Given the description of an element on the screen output the (x, y) to click on. 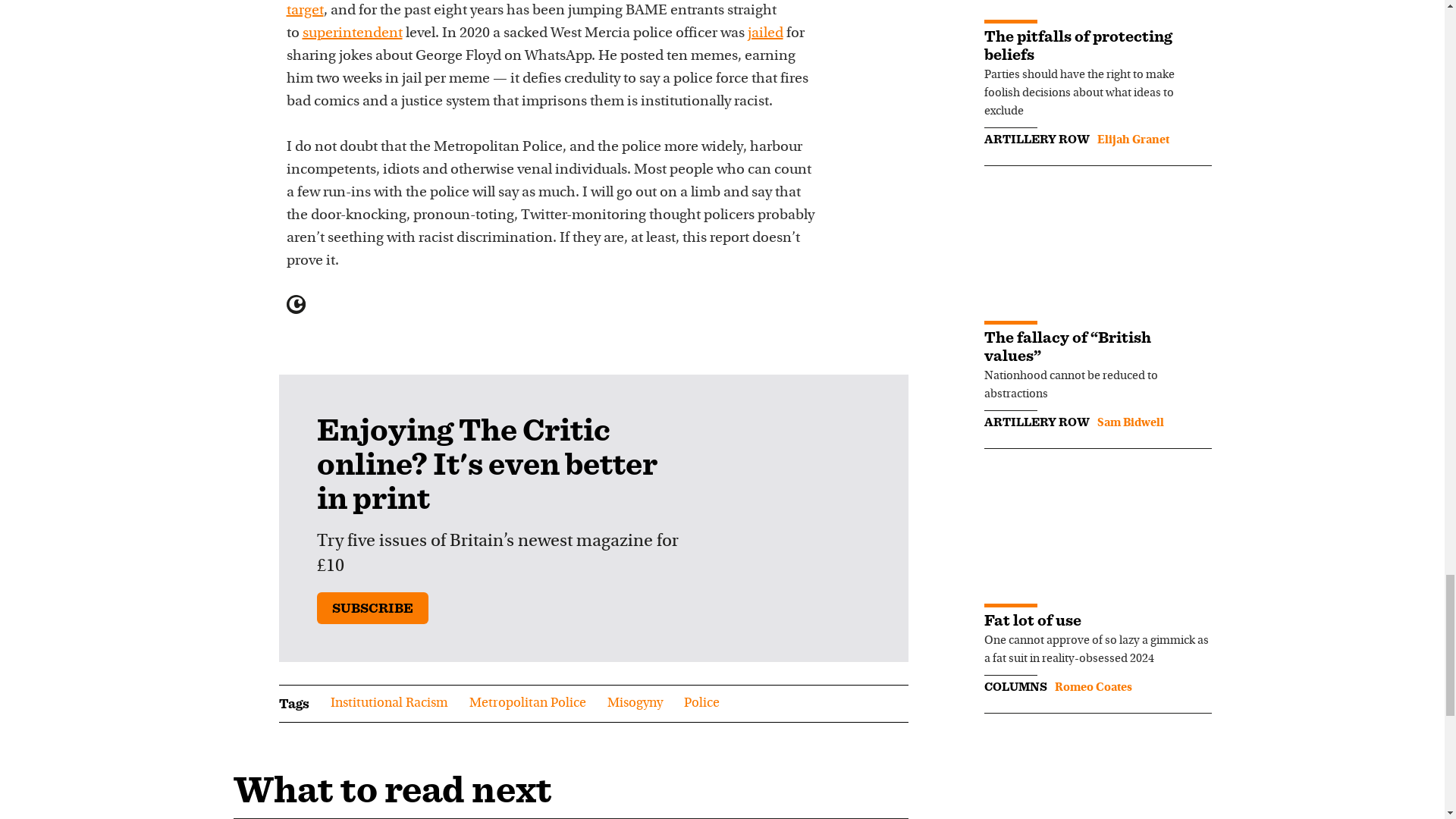
Posts by Romeo Coates (1092, 687)
Posts by Elijah Granet (1132, 140)
Misogyny (634, 703)
superintendent (351, 32)
Posts by Sam Bidwell (1129, 422)
Metropolitan Police (526, 703)
Police (701, 703)
Institutional Racism (389, 703)
jailed (765, 32)
SUBSCRIBE (372, 608)
recruitment target (537, 9)
